Given the description of an element on the screen output the (x, y) to click on. 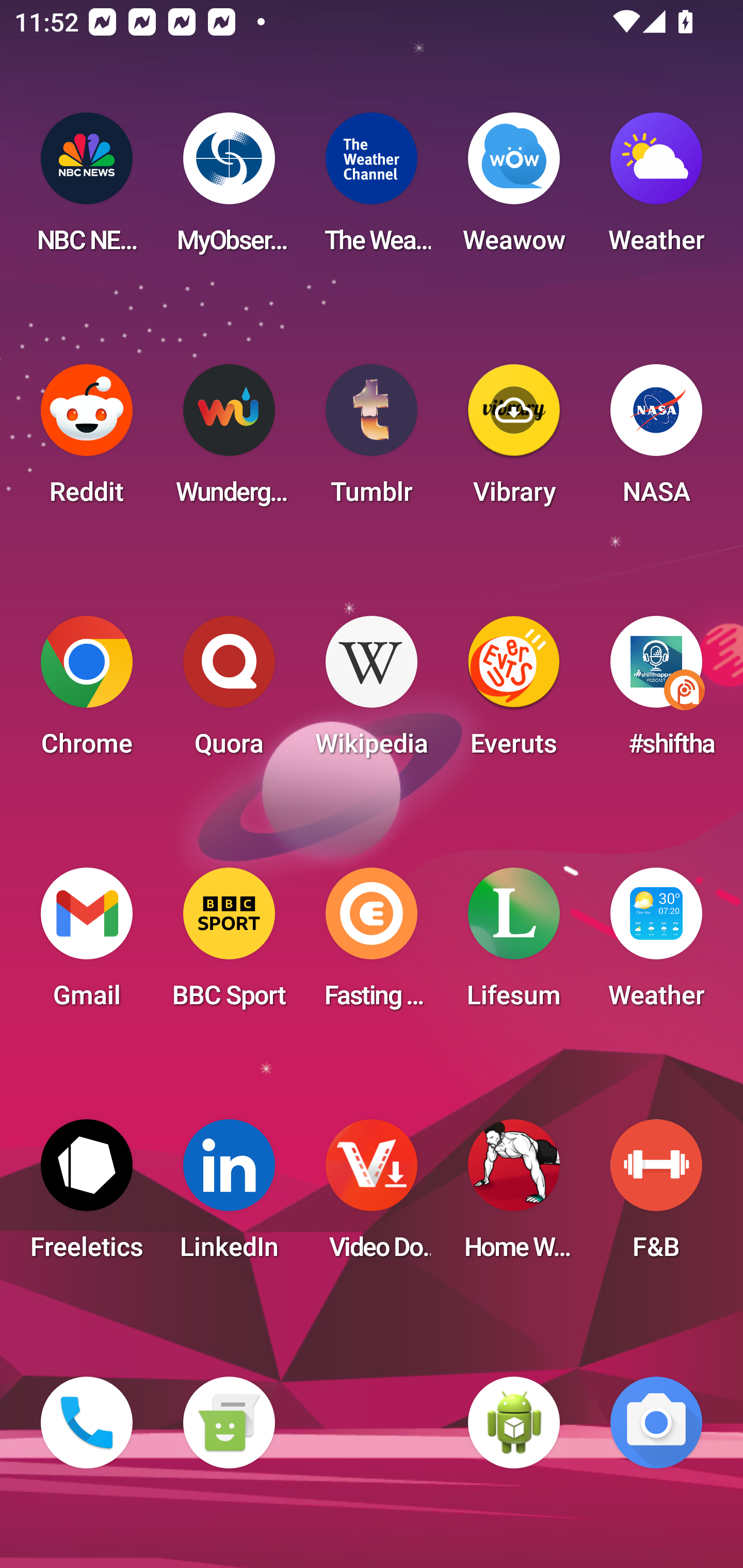
NBC NEWS (86, 188)
MyObservatory (228, 188)
The Weather Channel (371, 188)
Weawow (513, 188)
Weather (656, 188)
Reddit (86, 440)
Wunderground (228, 440)
Tumblr (371, 440)
Vibrary (513, 440)
NASA (656, 440)
Chrome (86, 692)
Quora (228, 692)
Wikipedia (371, 692)
Everuts (513, 692)
#shifthappens in the Digital Workplace Podcast (656, 692)
Gmail (86, 943)
BBC Sport (228, 943)
Fasting Coach (371, 943)
Lifesum (513, 943)
Weather (656, 943)
Freeletics (86, 1195)
LinkedIn (228, 1195)
Video Downloader & Ace Player (371, 1195)
Home Workout (513, 1195)
F&B (656, 1195)
Phone (86, 1422)
Messaging (228, 1422)
WebView Browser Tester (513, 1422)
Camera (656, 1422)
